Given the description of an element on the screen output the (x, y) to click on. 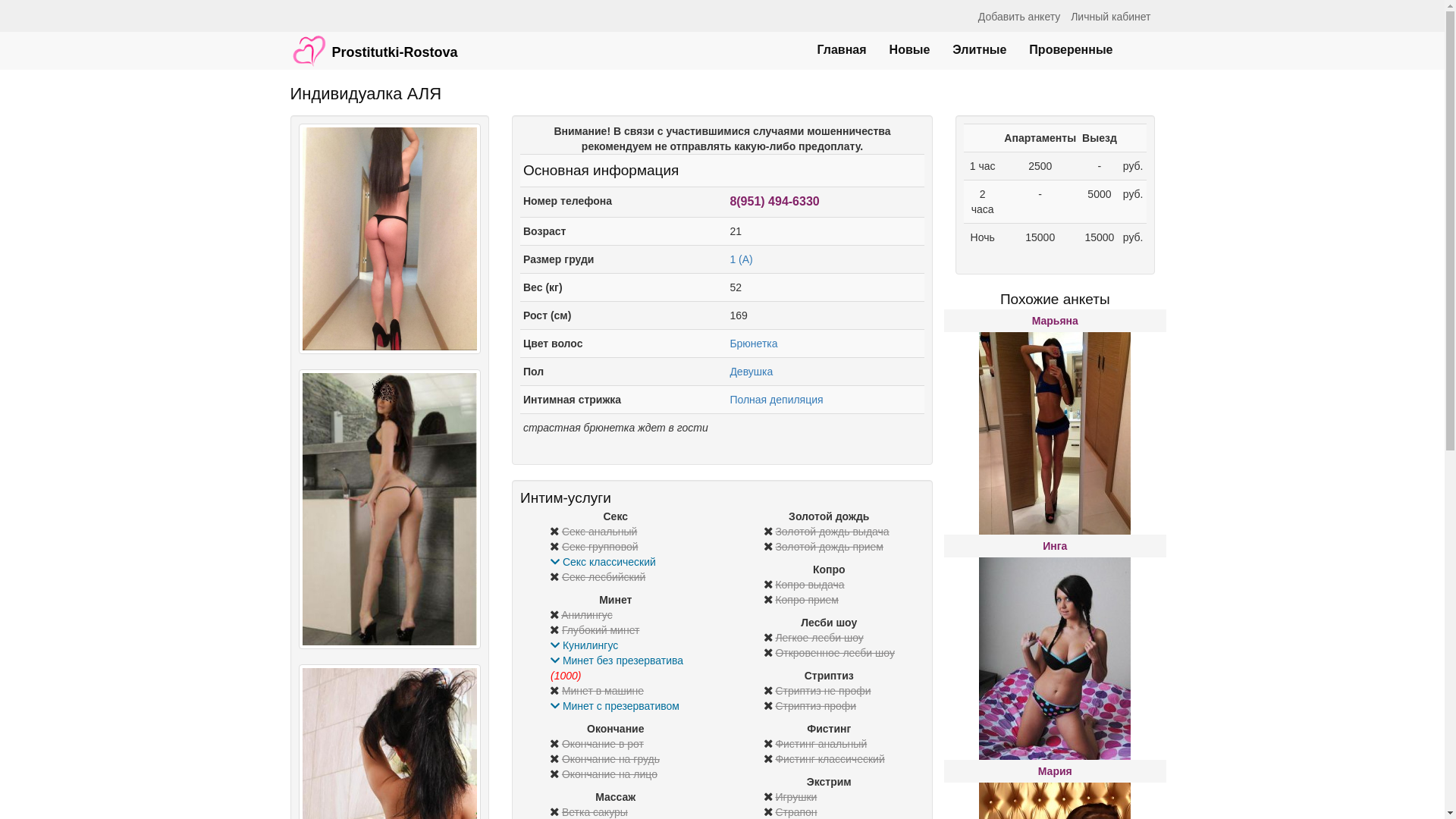
Prostitutki-Rostova Element type: text (374, 43)
1 (A) Element type: text (740, 259)
